Given the description of an element on the screen output the (x, y) to click on. 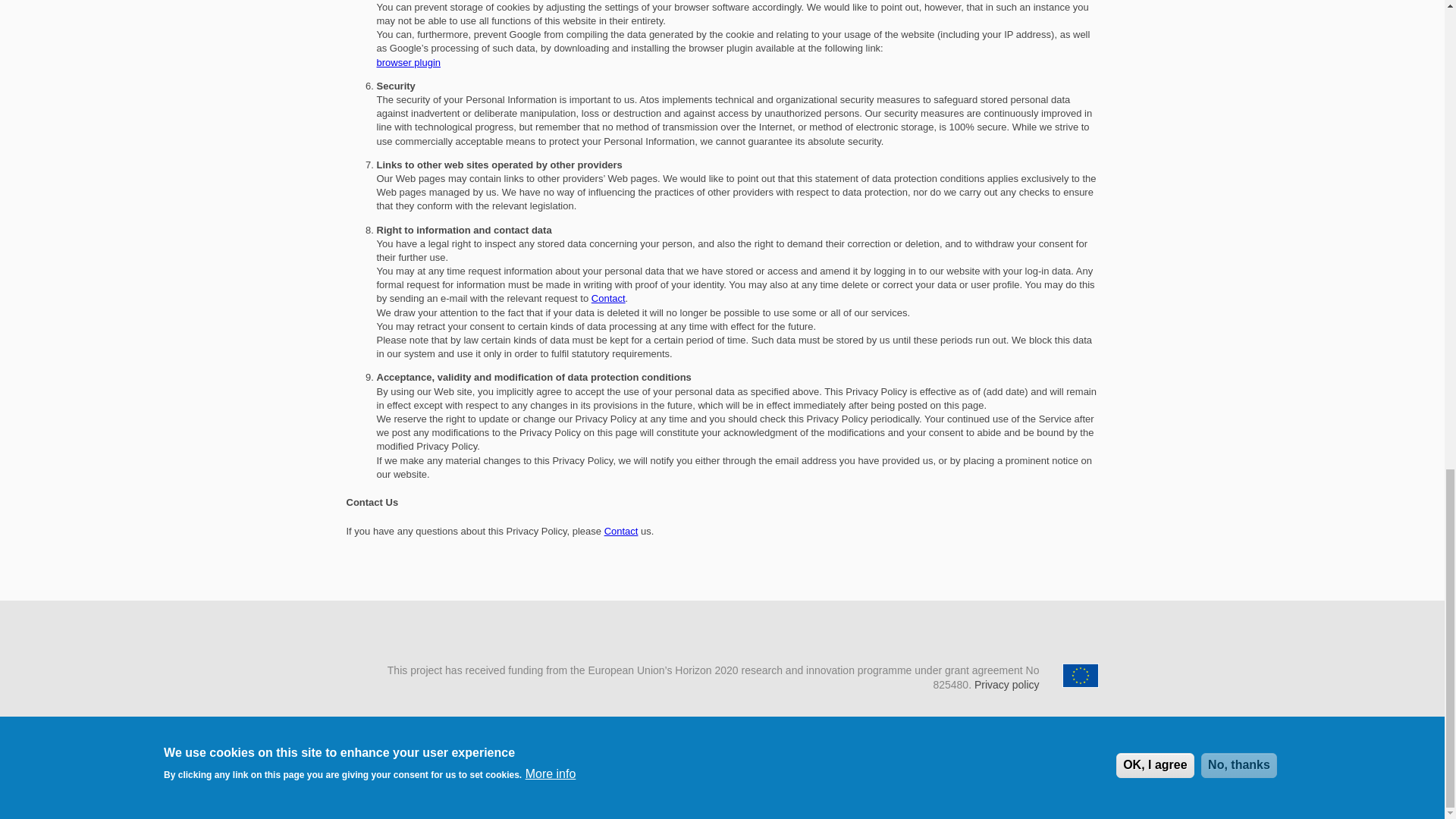
Github (797, 763)
Twitter (684, 763)
Newsletter (608, 763)
Contact (608, 297)
browser plugin (408, 61)
Contact (621, 531)
Dockerhub (759, 763)
Contact (722, 763)
Linkedin (646, 763)
Youtube (836, 763)
